Given the description of an element on the screen output the (x, y) to click on. 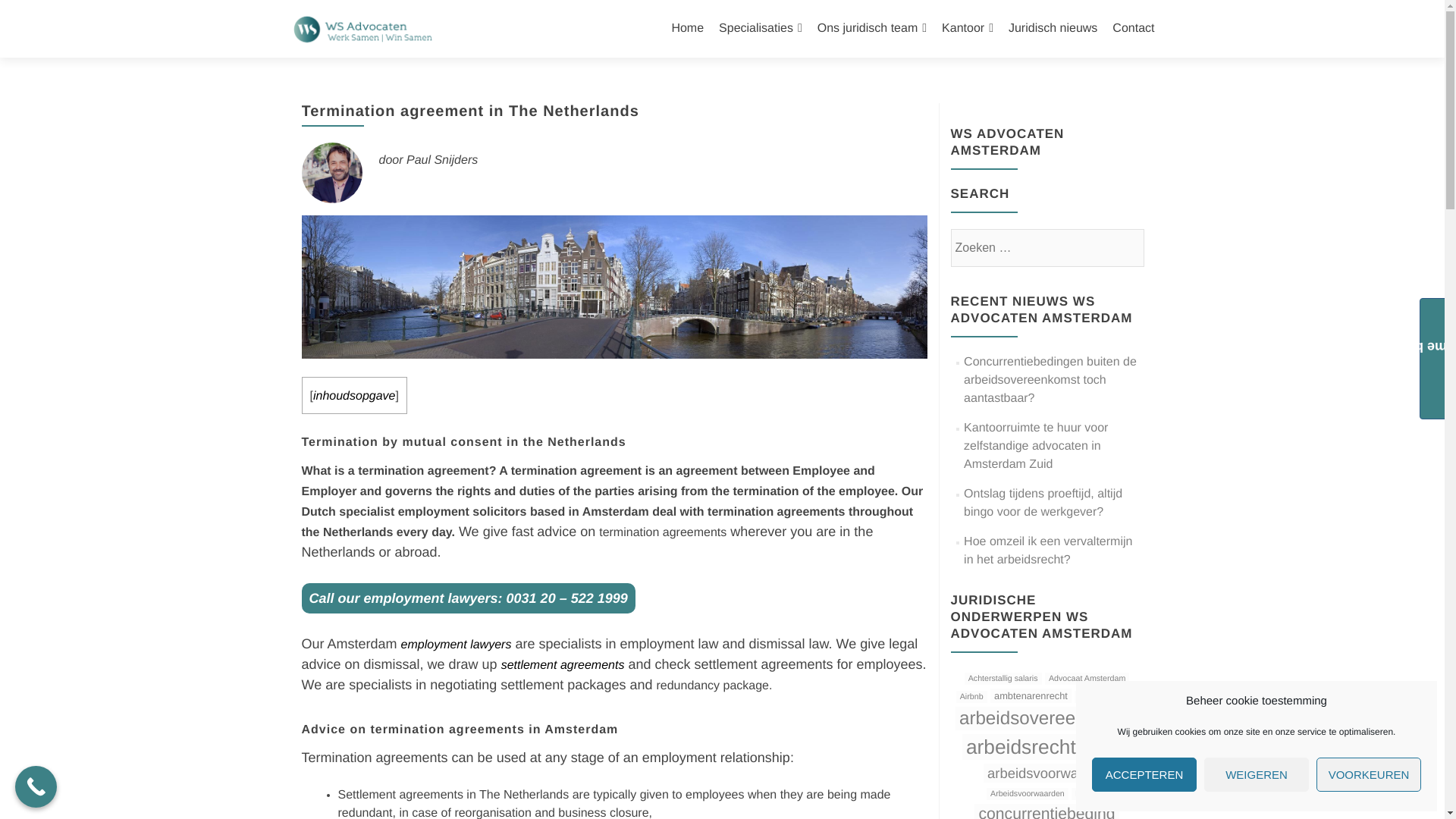
termination by mutual consent netherlands (465, 441)
ACCEPTEREN (1144, 774)
Kantoor (967, 28)
Zoeken (1125, 246)
WEIGEREN (1256, 774)
VOORKEUREN (1368, 774)
redundancy package (713, 685)
Specialisaties (760, 28)
Zoeken (1125, 246)
Home (687, 28)
Ons juridisch team (871, 28)
